Given the description of an element on the screen output the (x, y) to click on. 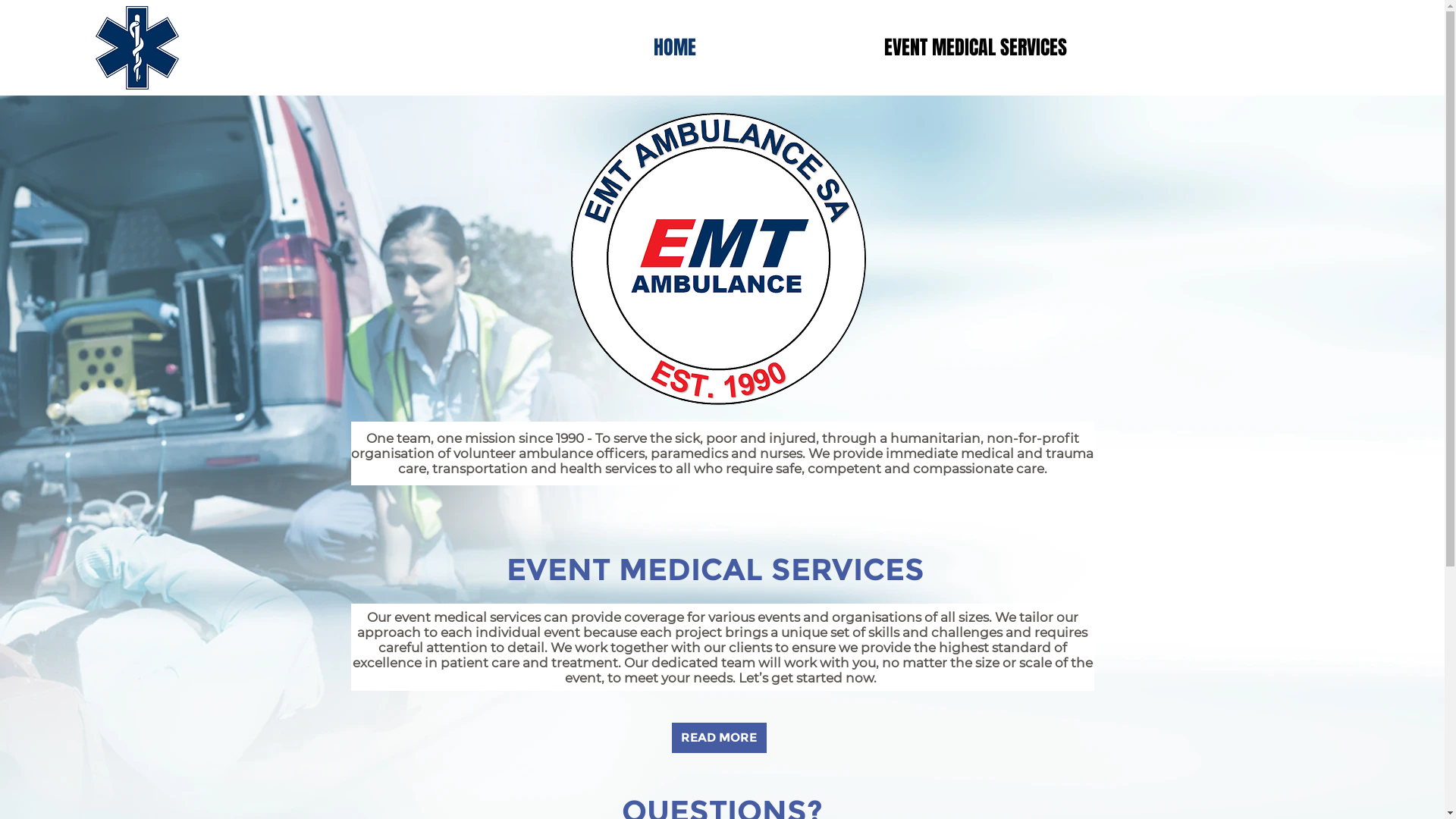
READ MORE Element type: text (718, 737)
EVENT MEDICAL SERVICES Element type: text (975, 47)
HOME Element type: text (674, 47)
